Given the description of an element on the screen output the (x, y) to click on. 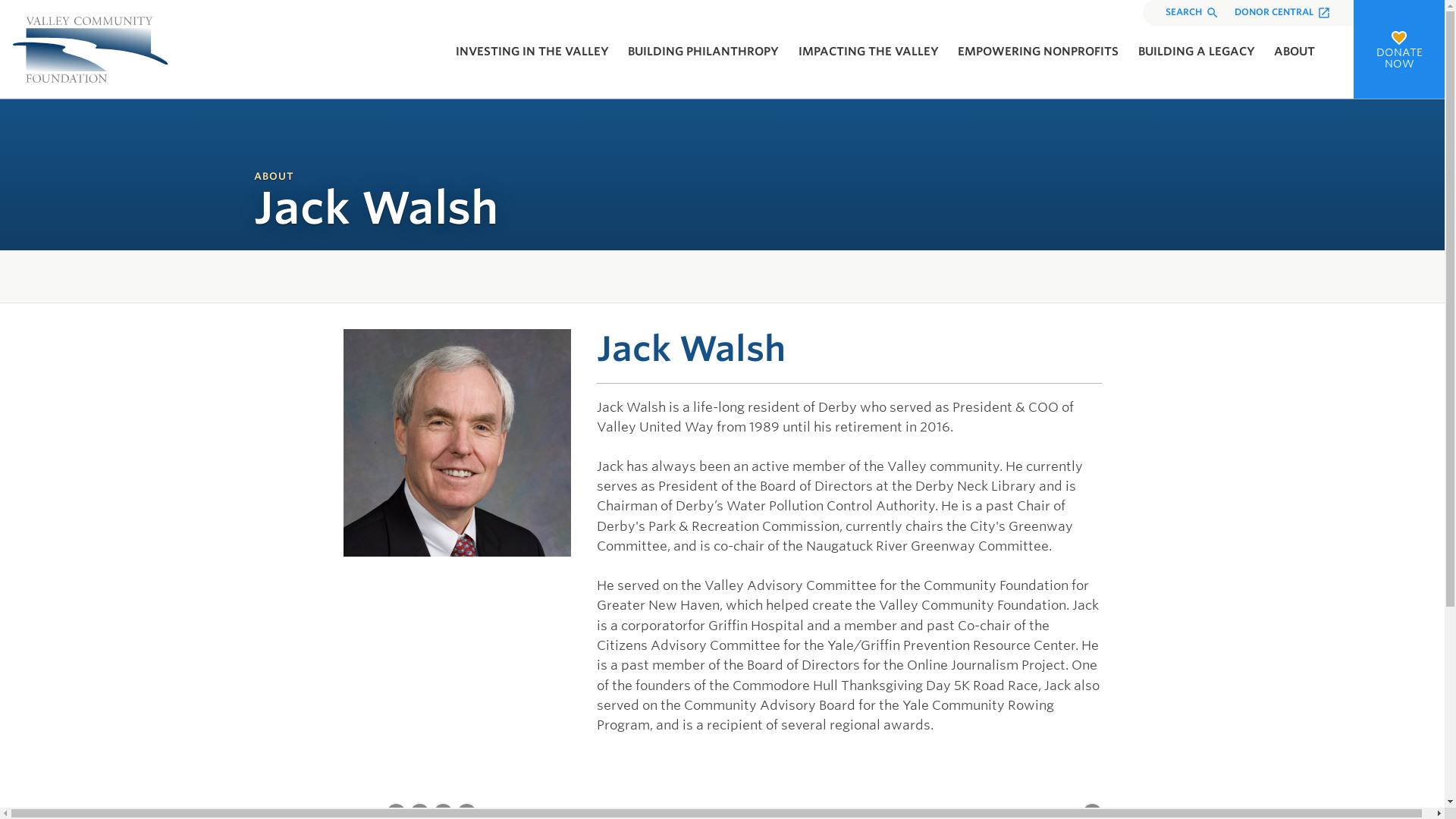
DONOR CENTRAL (1282, 12)
BUILDING PHILANTHROPY (702, 52)
SEARCH (1193, 12)
IMPACTING THE VALLEY (867, 52)
INVESTING IN THE VALLEY (531, 52)
